Given the description of an element on the screen output the (x, y) to click on. 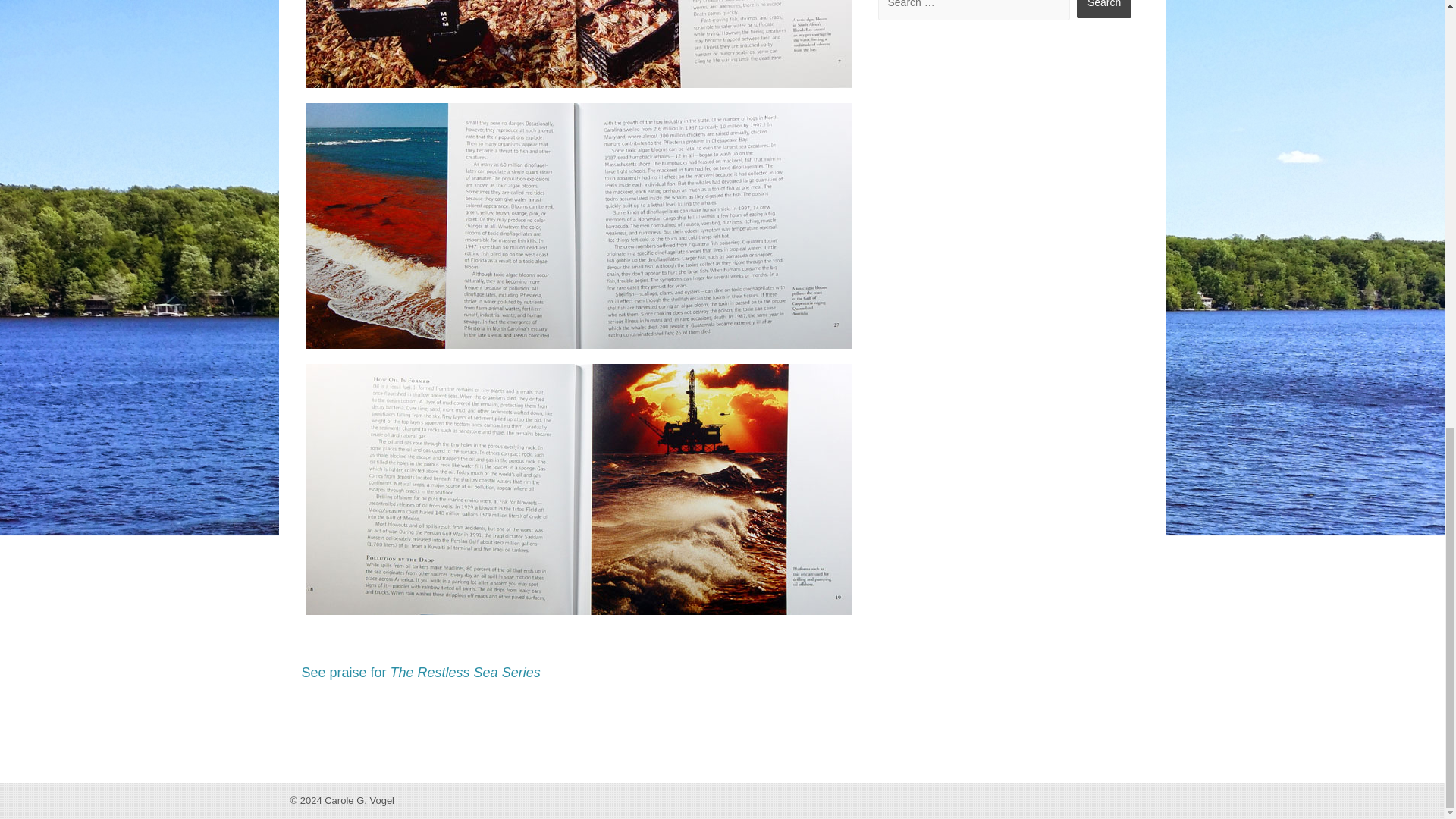
Carole G. Vogel (359, 799)
Search (1104, 9)
Search (1104, 9)
Search (1104, 9)
See praise for The Restless Sea Series (420, 672)
